Given the description of an element on the screen output the (x, y) to click on. 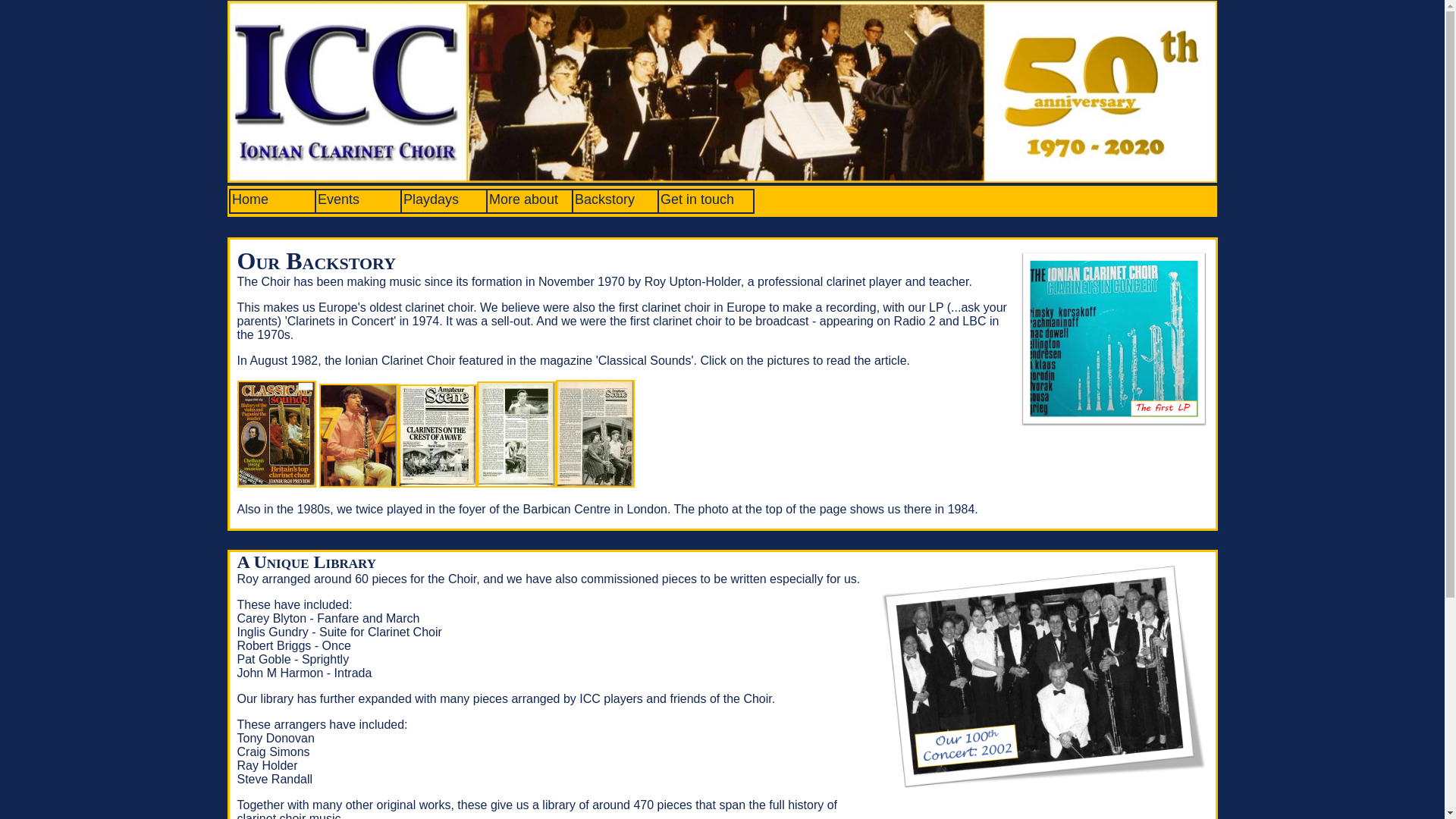
More about (523, 199)
Playdays (430, 199)
Events (338, 199)
Backstory (604, 199)
Get in touch (697, 199)
Home (249, 199)
